Given the description of an element on the screen output the (x, y) to click on. 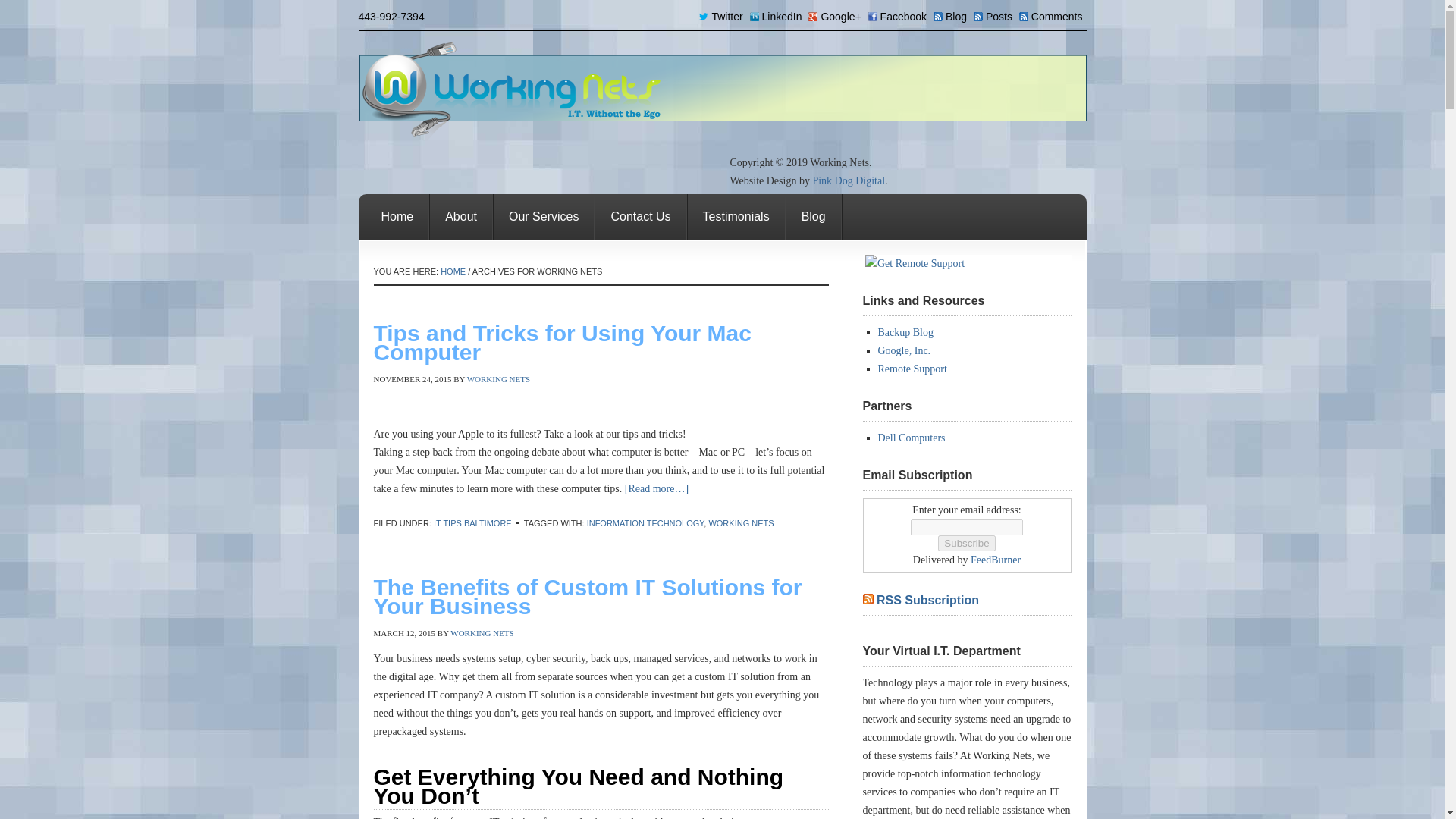
Dr. Backup knows his backups! (905, 332)
Tips and Tricks for Using Your Mac Computer (561, 342)
Testimonials (736, 216)
WORKING NETS (740, 522)
HOME (453, 271)
Twitter (721, 16)
2015-11-24T12:12:35-05:00 (411, 379)
The Benefits of Custom IT Solutions for Your Business (587, 596)
WORKING NETS (498, 379)
WORKING NETS (481, 633)
